Given the description of an element on the screen output the (x, y) to click on. 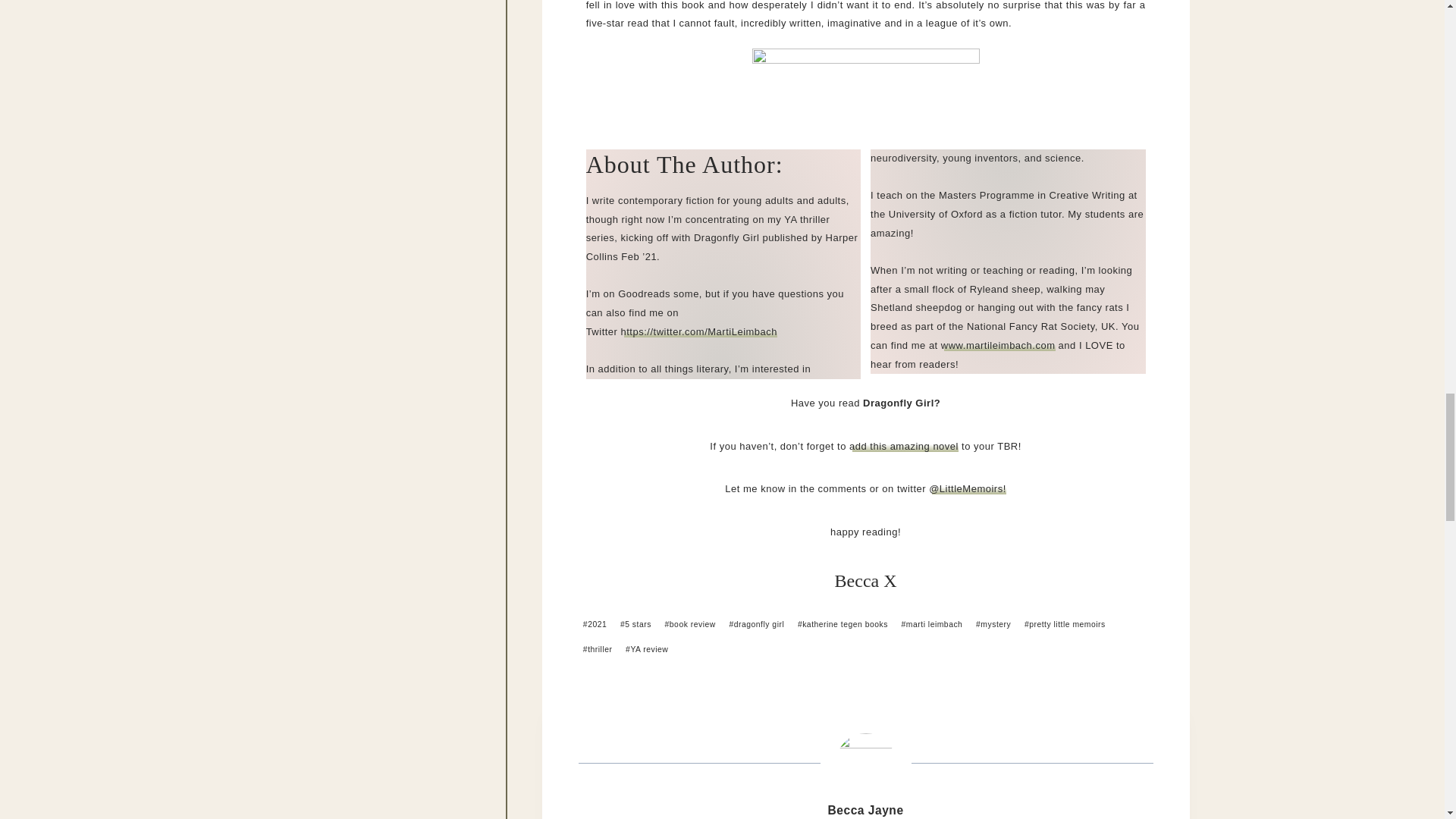
katherine tegen books (843, 624)
pretty little memoirs (1064, 624)
book review (689, 624)
5 stars (635, 624)
mystery (993, 624)
dragonfly girl (756, 624)
YA review (646, 649)
thriller (597, 649)
Posts by Becca Jayne (866, 809)
marti leimbach (931, 624)
